Given the description of an element on the screen output the (x, y) to click on. 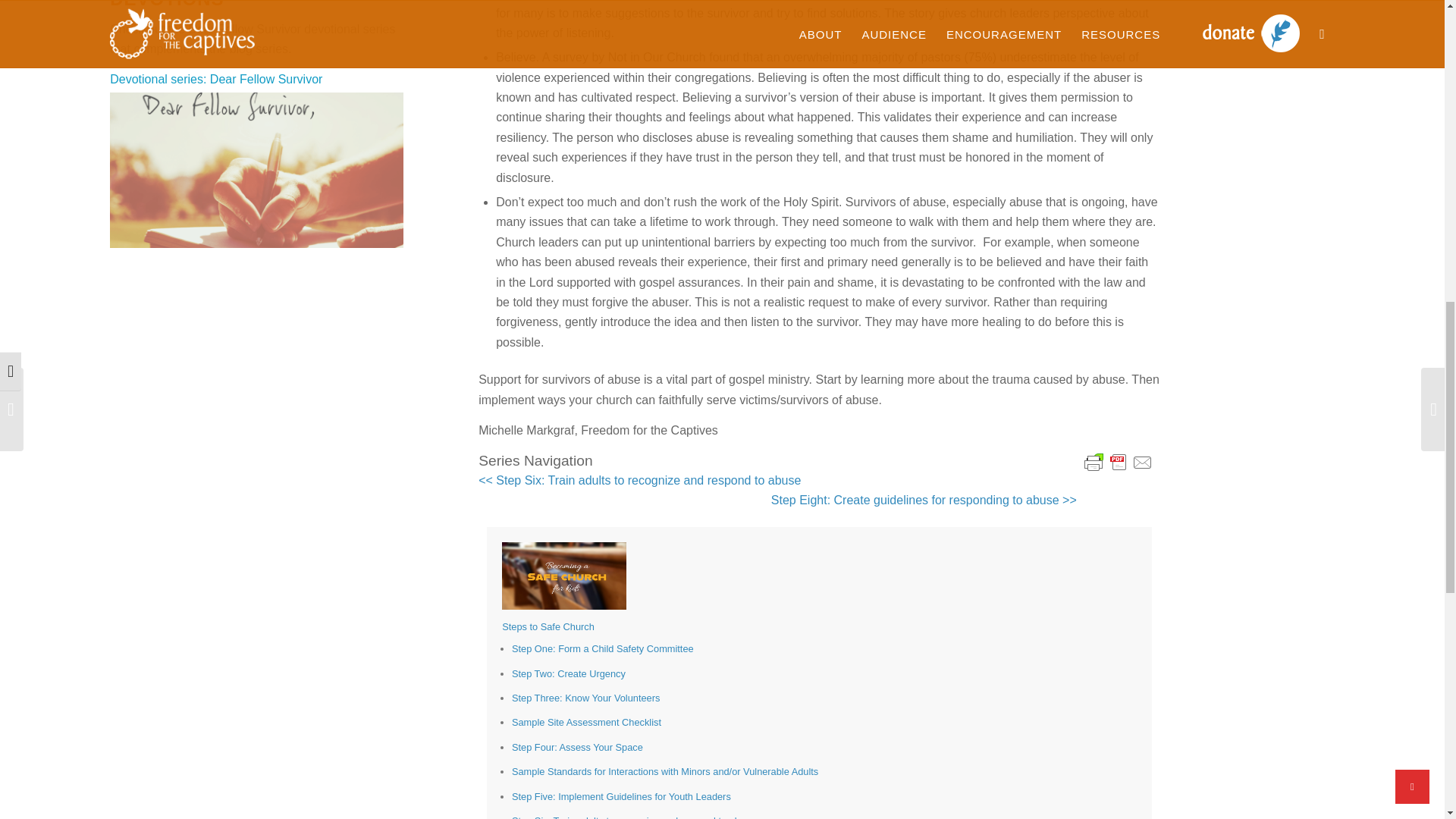
Steps to Safe Church (548, 626)
Sample Site Assessment Checklist (586, 722)
Step Three: Know Your Volunteers (585, 697)
Step One: Form a Child Safety Committee (603, 648)
Step Four: Assess Your Space (577, 747)
Step Two: Create Urgency (569, 673)
